Given the description of an element on the screen output the (x, y) to click on. 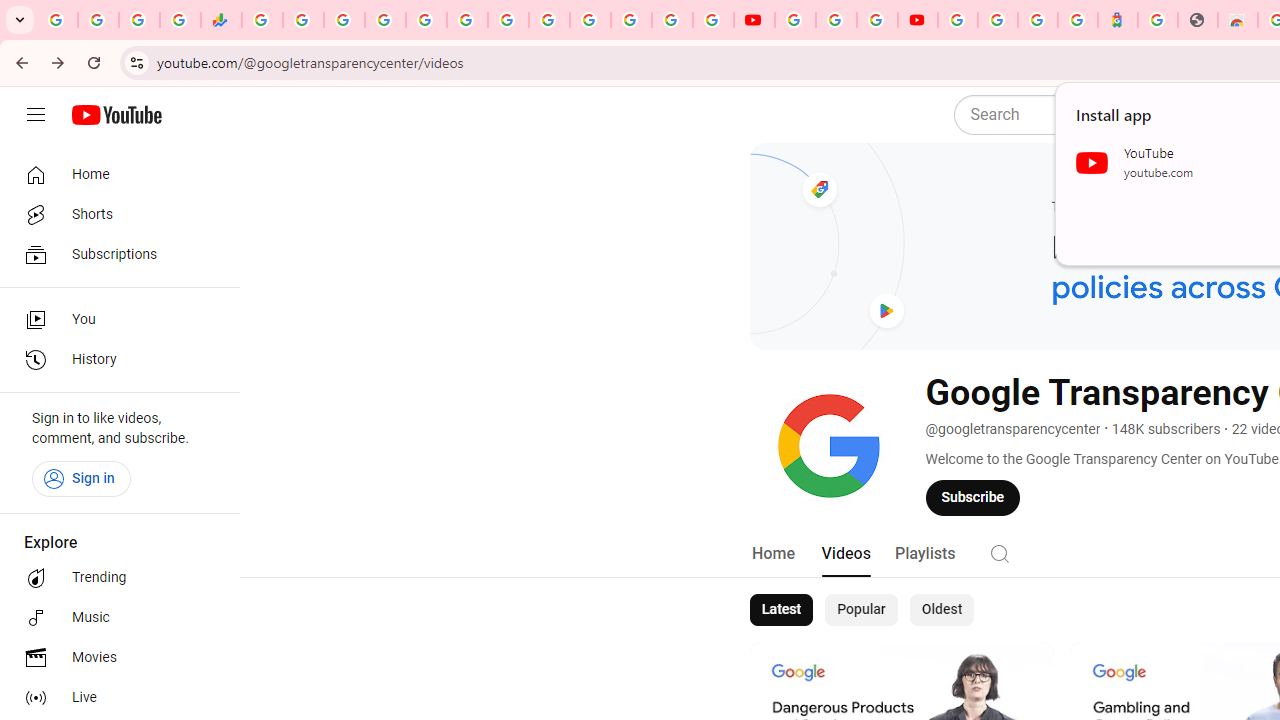
Trending (113, 578)
YouTube (548, 20)
History (113, 359)
Content Creator Programs & Opportunities - YouTube Creators (918, 20)
Live (113, 697)
Google Account Help (836, 20)
